Given the description of an element on the screen output the (x, y) to click on. 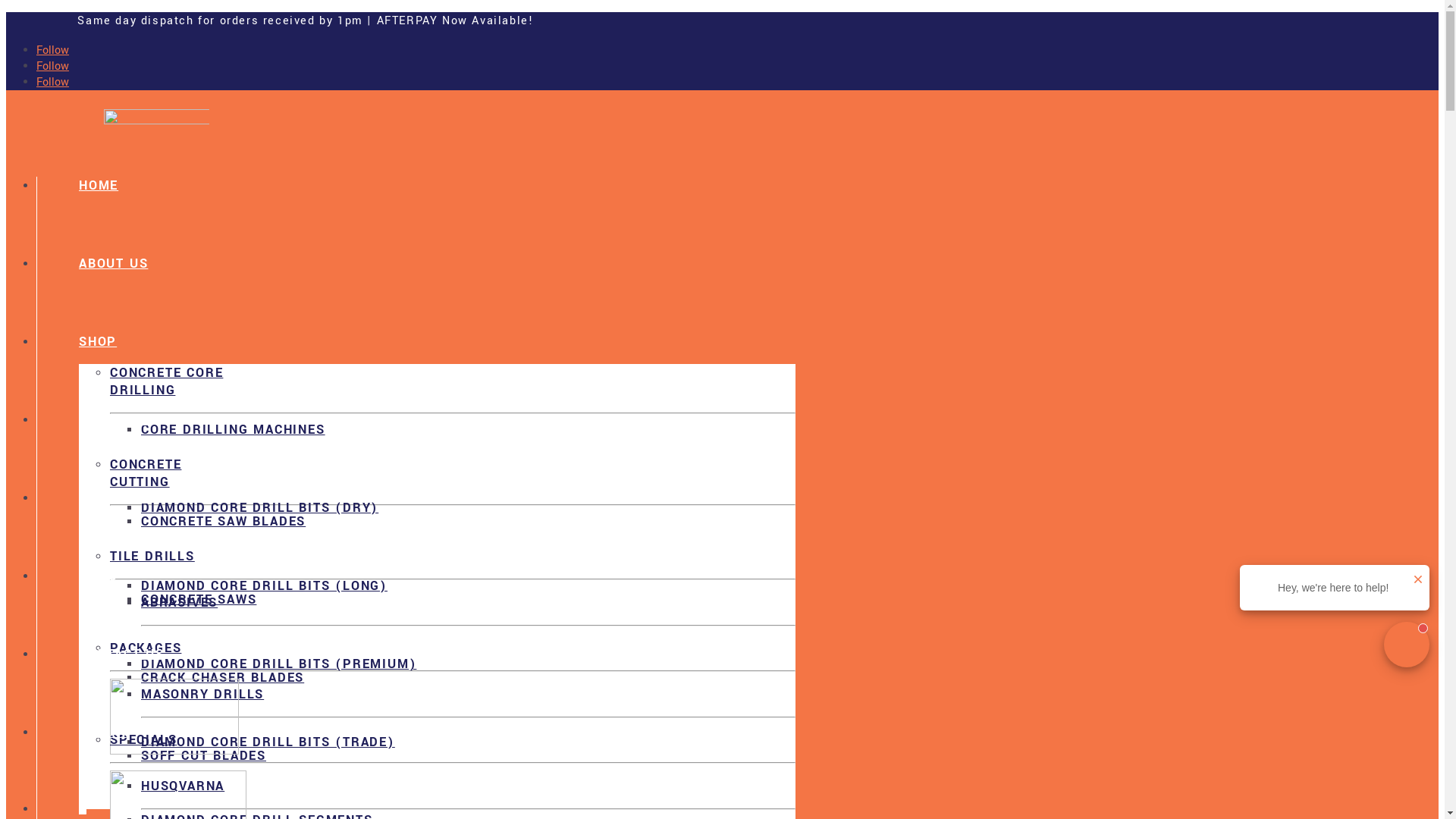
SOFF CUT BLADES Element type: text (203, 755)
MASONRY DRILLS Element type: text (468, 701)
CONCRETE CORE
DRILLING Element type: text (452, 389)
Follow Element type: text (52, 50)
CRACK CHASER BLADES Element type: text (222, 677)
Follow Element type: text (52, 82)
ABOUT US Element type: text (112, 263)
HUSQVARNA Element type: text (468, 793)
PACKAGES Element type: text (114, 419)
CONCRETE
CUTTING Element type: text (452, 480)
NEWS Element type: text (97, 575)
ABRASIVES Element type: text (468, 609)
TILE DRILLS Element type: text (452, 563)
CONCRETE SAWS Element type: text (198, 599)
DIAMOND CORE DRILL BITS (LONG) Element type: text (264, 585)
HOME Element type: text (98, 185)
ABOUT US Element type: text (112, 497)
SHOP Element type: text (97, 341)
DIAMOND CORE DRILL BITS (PREMIUM) Element type: text (278, 663)
CORE DRILLING MACHINES Element type: text (233, 429)
PACKAGES Element type: text (452, 699)
CONCRETE SAW BLADES Element type: text (223, 521)
LOG IN Element type: text (102, 731)
CONTACT US Element type: text (121, 653)
DIAMOND CORE DRILL BITS (DRY) Element type: text (259, 507)
DIAMOND CORE DRILL BITS (TRADE) Element type: text (268, 741)
0 Element type: text (436, 809)
Follow Element type: text (52, 66)
logo@3x Element type: hover (156, 136)
